Given the description of an element on the screen output the (x, y) to click on. 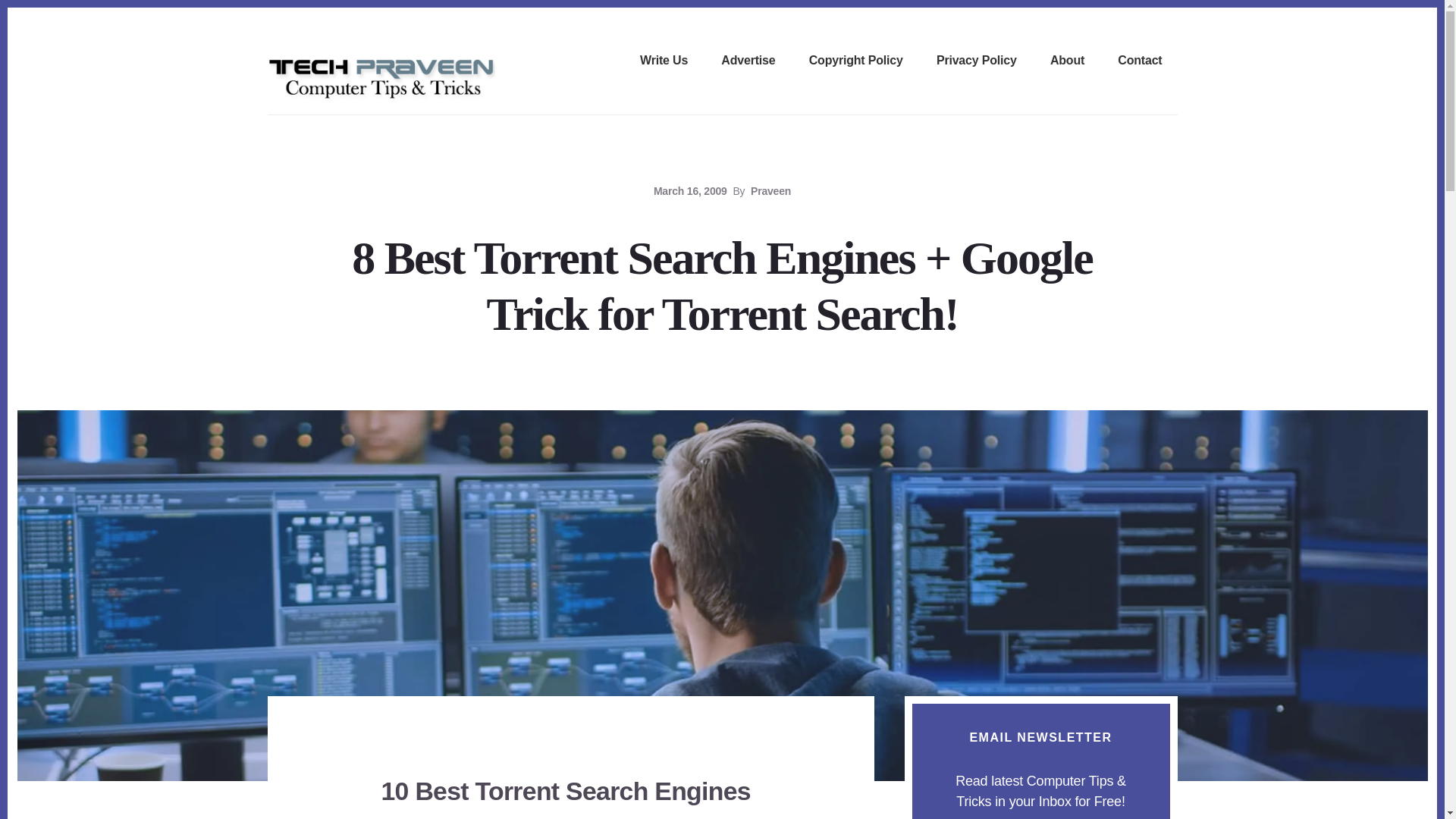
Privacy Policy (976, 61)
Contact (1139, 61)
About (1066, 61)
Advertise (747, 61)
Copyright Policy (855, 61)
Praveen (770, 191)
Write Us (663, 61)
